Given the description of an element on the screen output the (x, y) to click on. 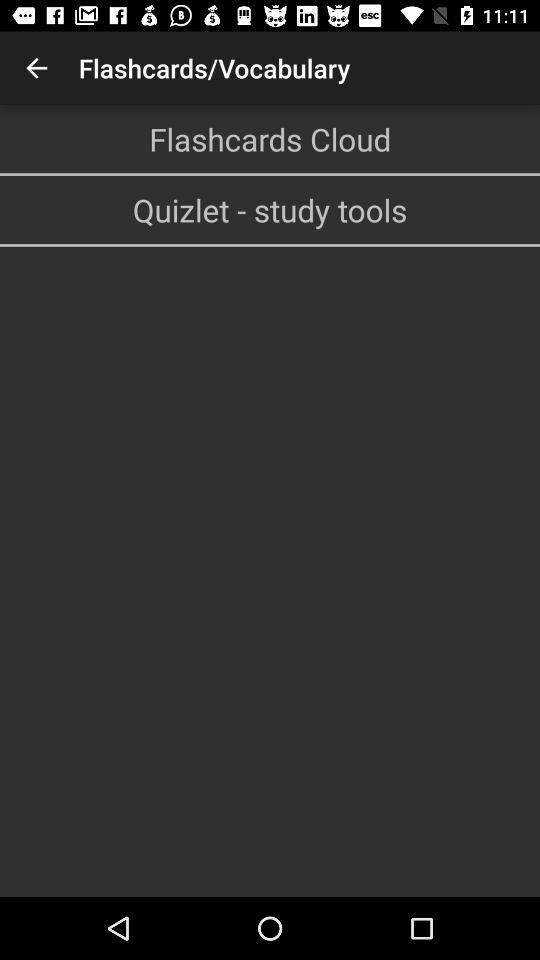
tap icon at the top left corner (36, 68)
